Given the description of an element on the screen output the (x, y) to click on. 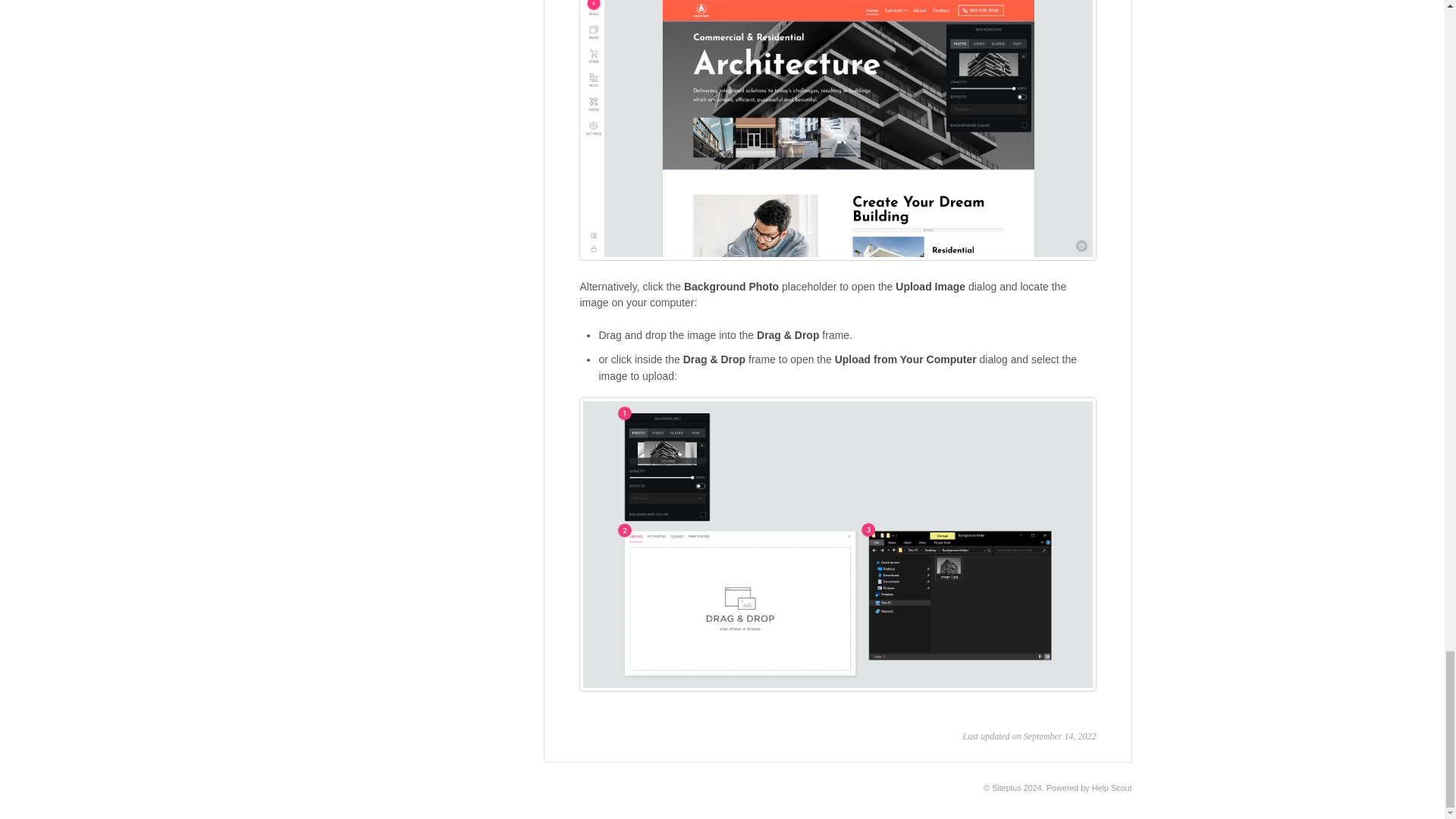
Help Scout (1112, 787)
